Given the description of an element on the screen output the (x, y) to click on. 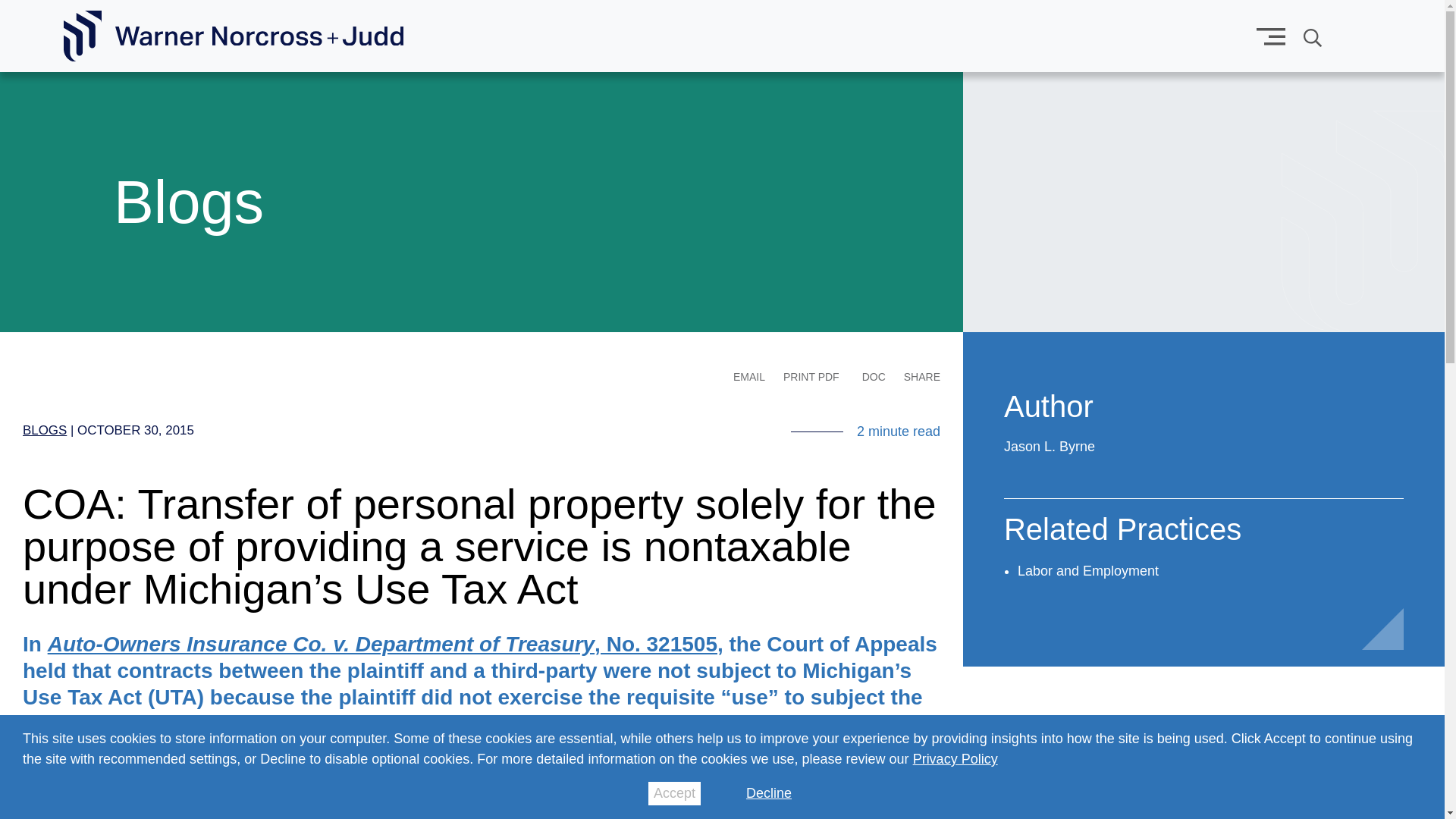
PRINT PDF (811, 376)
Labor and Employment (1087, 570)
Related Practices (1122, 536)
DOC (873, 376)
Decline (768, 793)
Accept (673, 793)
Jason L. Byrne (1049, 446)
EMAIL (749, 377)
SHARE (922, 377)
